Given the description of an element on the screen output the (x, y) to click on. 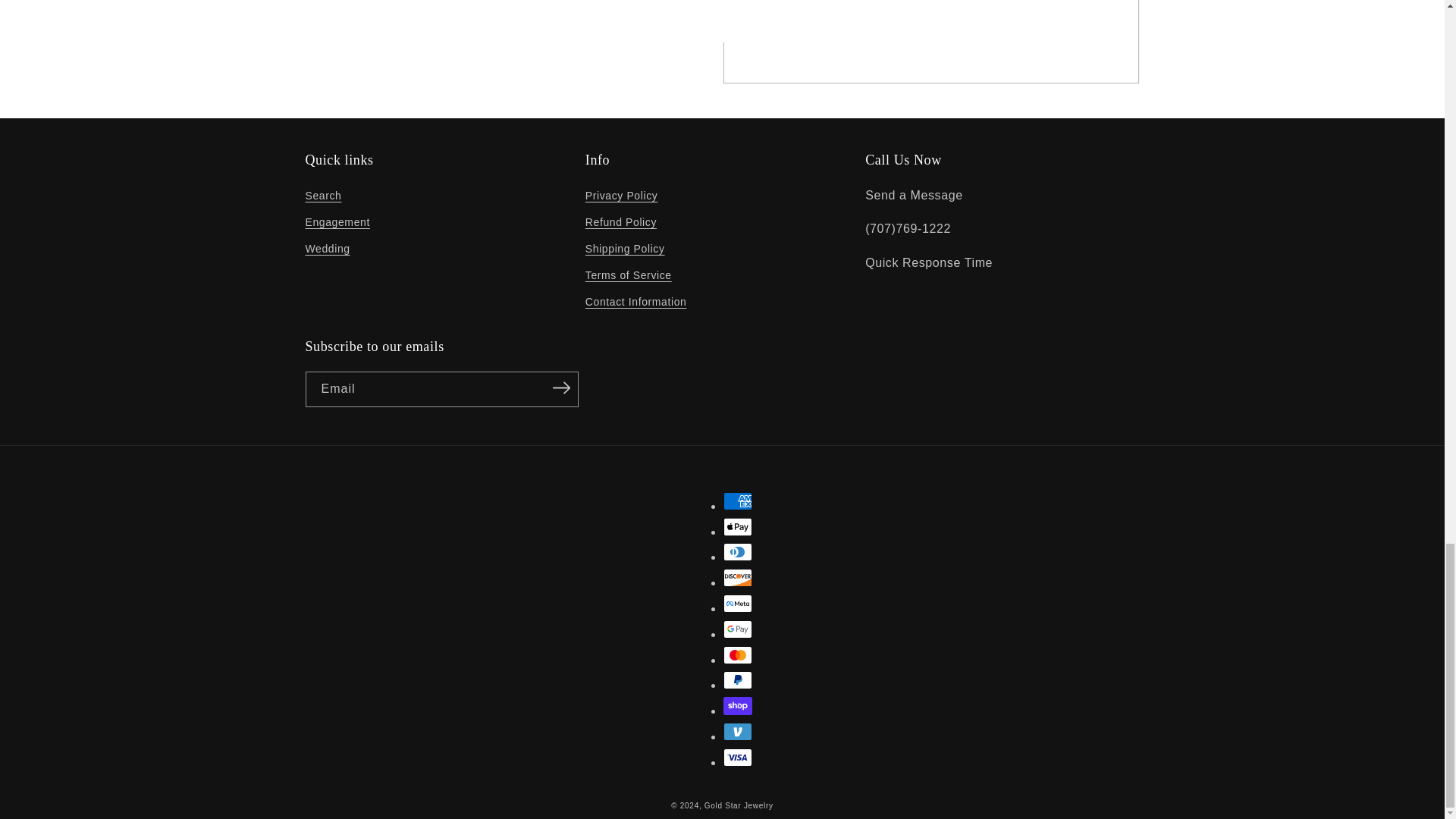
American Express (737, 501)
Discover (737, 577)
PayPal (737, 679)
Venmo (737, 731)
Mastercard (737, 655)
Apple Pay (737, 526)
Diners Club (737, 551)
Google Pay (737, 628)
Meta Pay (737, 603)
Visa (737, 757)
